Given the description of an element on the screen output the (x, y) to click on. 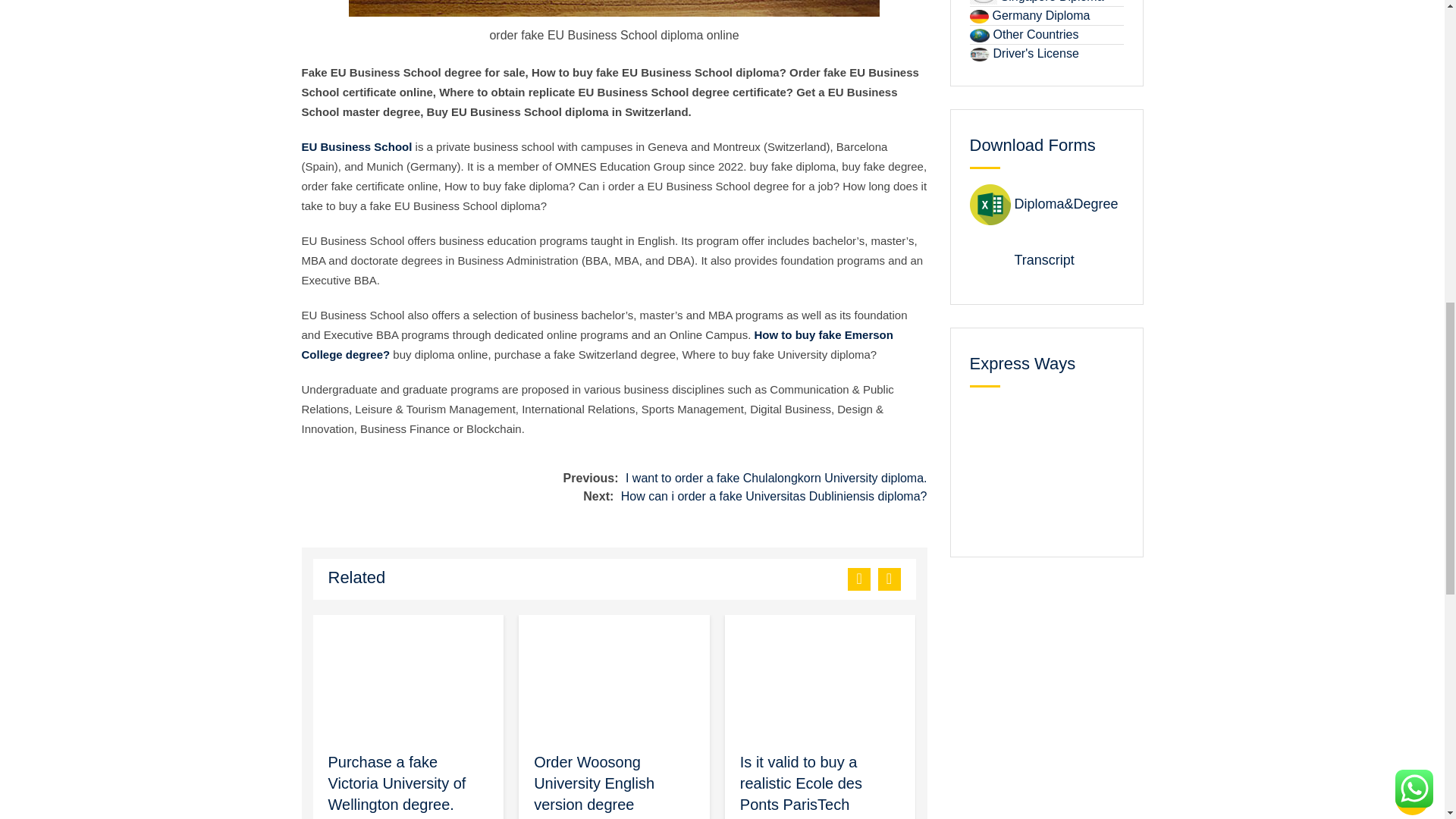
Order Woosong University English version degree certificates (593, 786)
Purchase a fake Victoria University of Wellington degree. (396, 783)
